Given the description of an element on the screen output the (x, y) to click on. 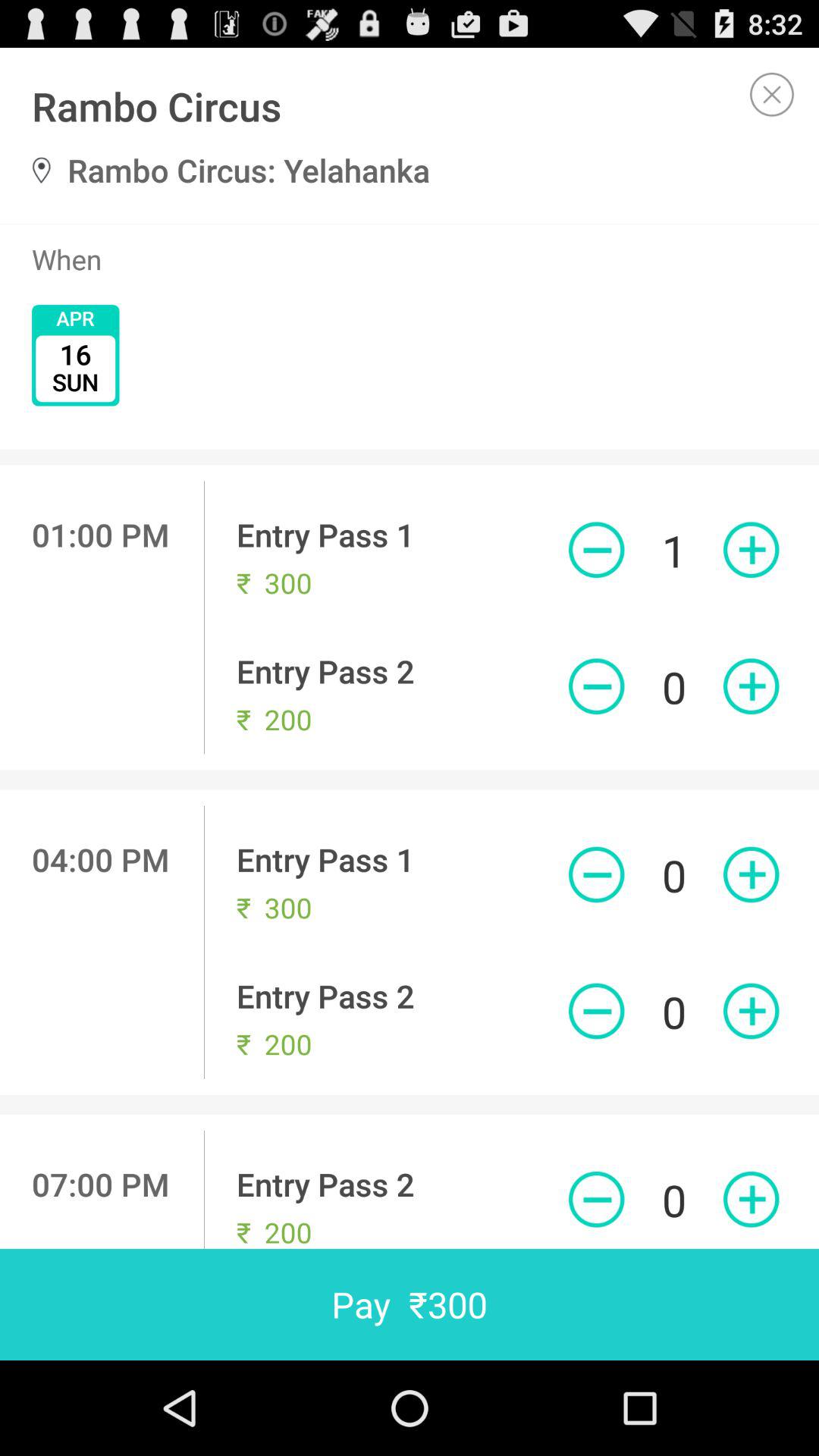
delete (596, 686)
